Given the description of an element on the screen output the (x, y) to click on. 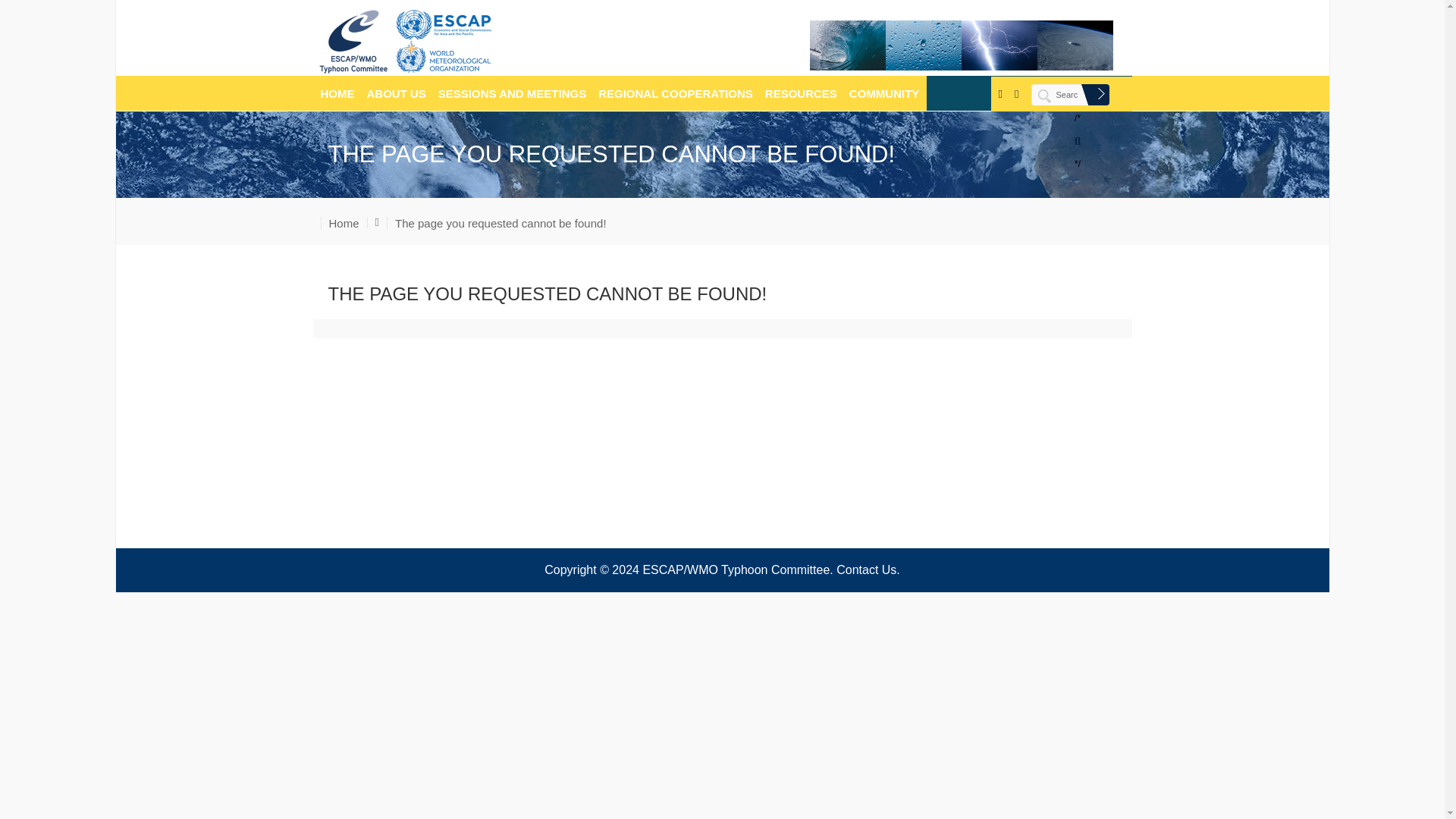
COMMUNITY (884, 93)
REGIONAL COOPERATIONS (675, 93)
RESOURCES (801, 93)
SESSIONS AND MEETINGS (512, 93)
Search (1069, 94)
ABOUT US (396, 93)
HOME (336, 93)
